Given the description of an element on the screen output the (x, y) to click on. 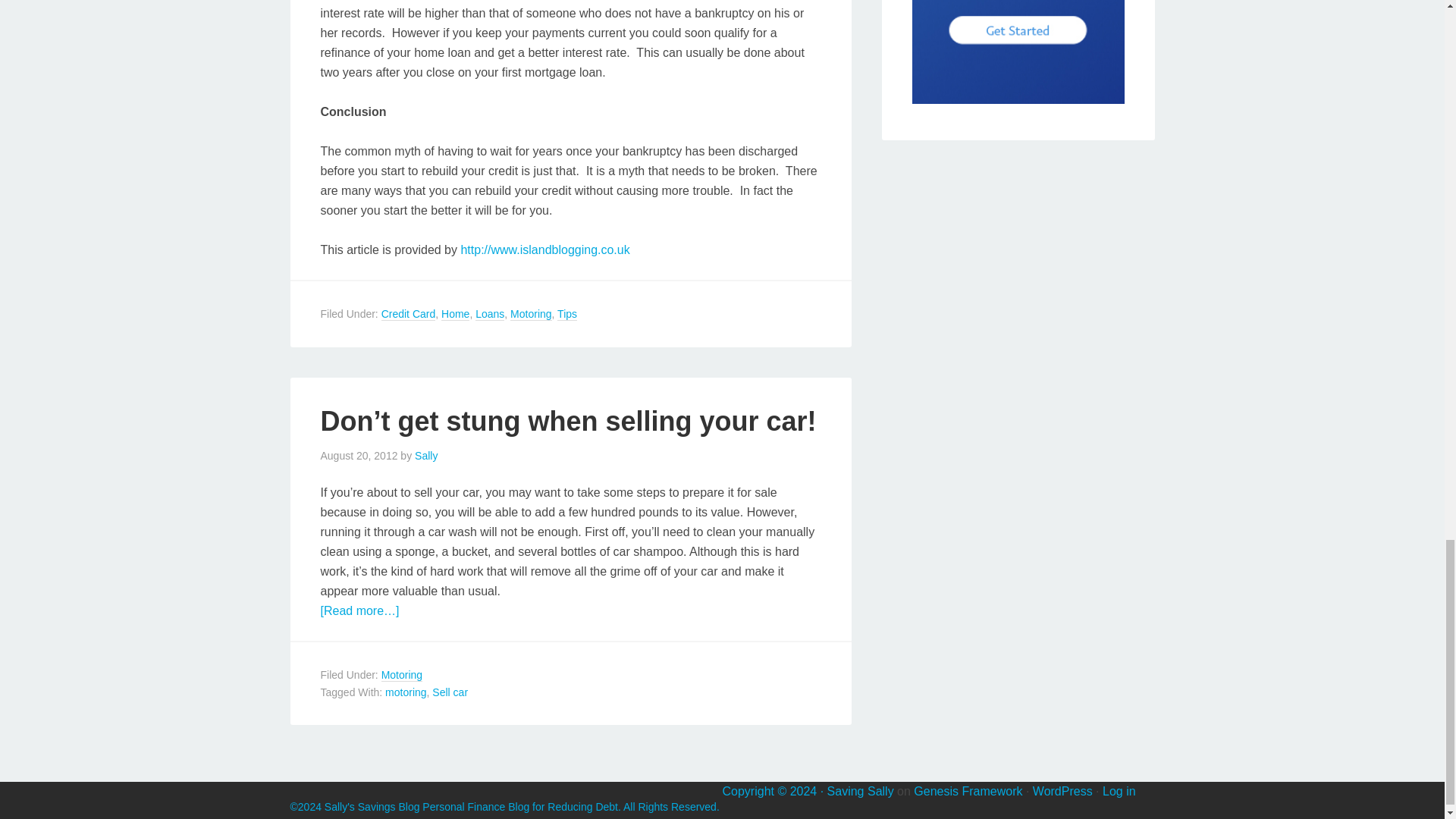
Sally (426, 455)
Motoring (401, 675)
Tips (566, 314)
Motoring (531, 314)
Home (454, 314)
Credit Card (408, 314)
Loans (489, 314)
Sell car (449, 692)
Genesis Framework (968, 790)
motoring (405, 692)
